Given the description of an element on the screen output the (x, y) to click on. 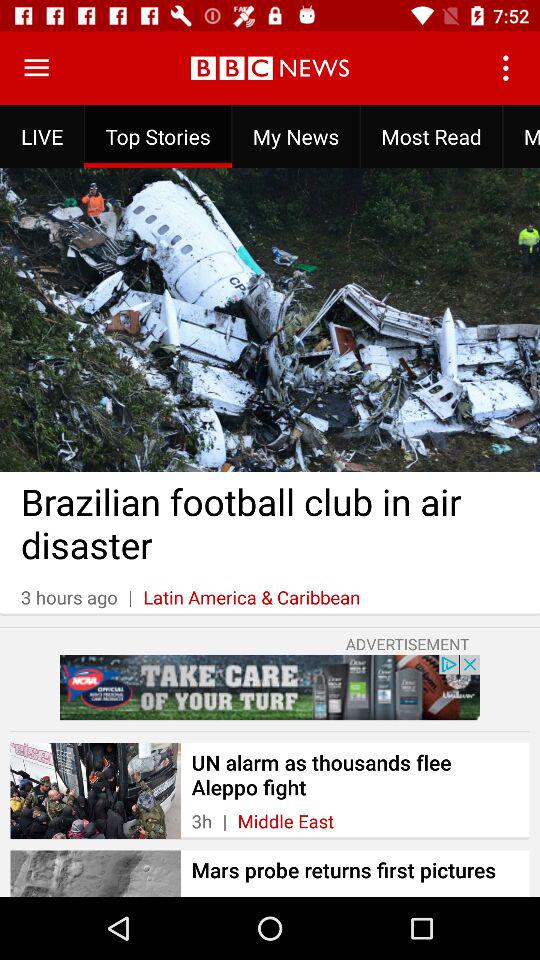
menu items (36, 68)
